Given the description of an element on the screen output the (x, y) to click on. 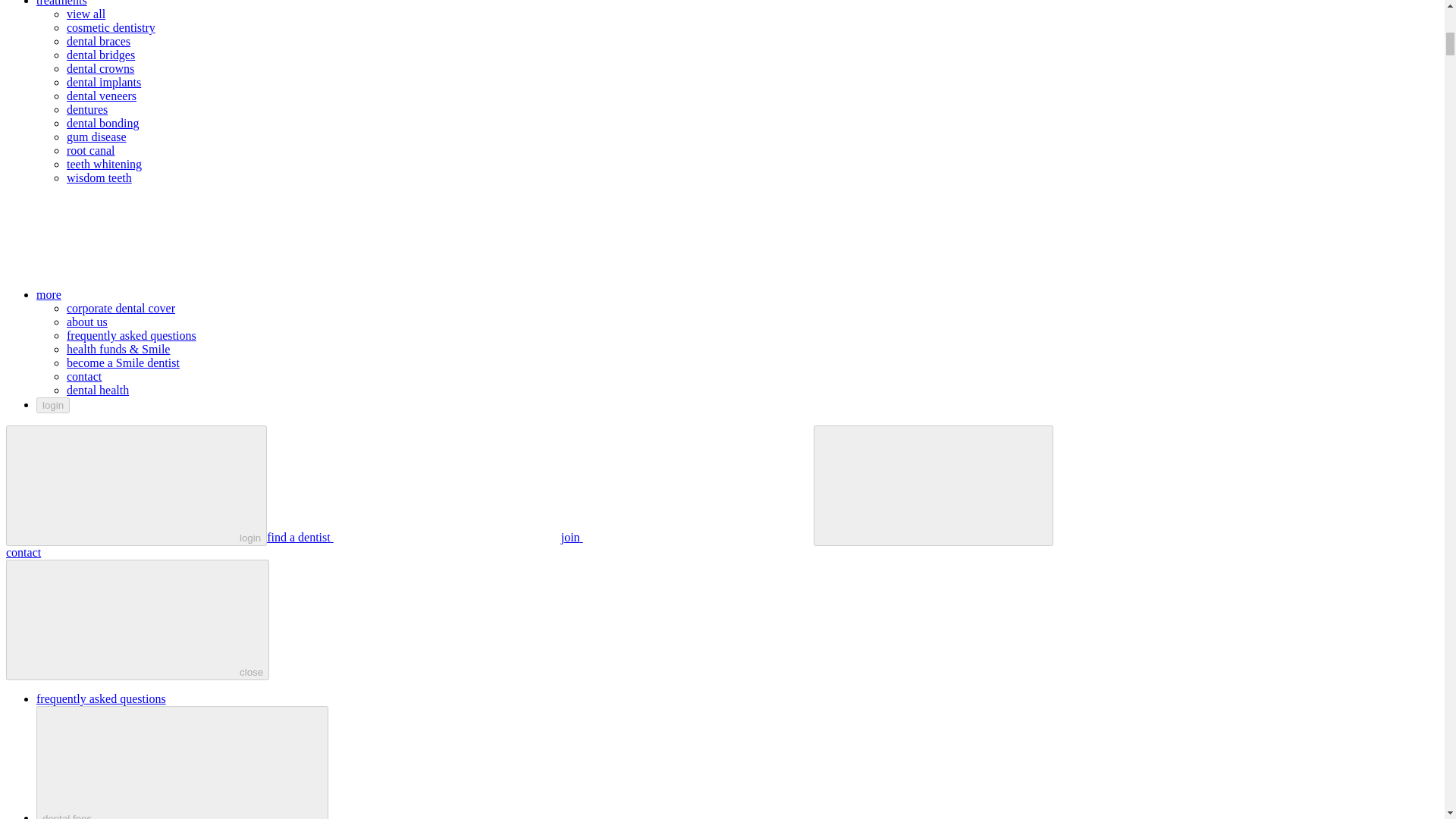
dental veneers (101, 95)
treatments (175, 3)
view all (85, 13)
dental braces (98, 41)
dentures (86, 109)
dental implants (103, 82)
dental bridges (100, 54)
cosmetic dentistry (110, 27)
dental bonding (102, 123)
root canal (90, 150)
